Given the description of an element on the screen output the (x, y) to click on. 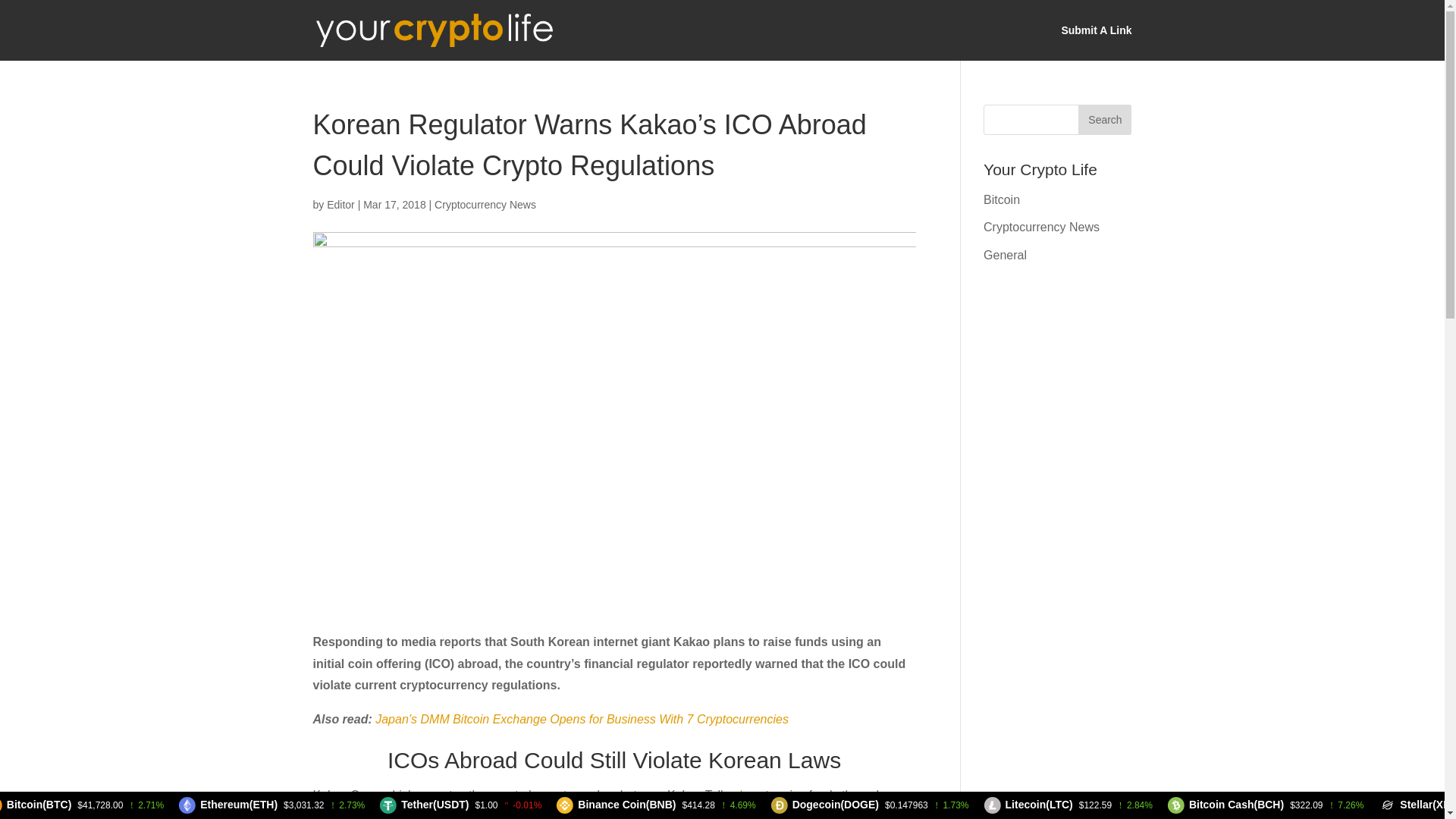
Search (1104, 119)
Bitcoin (1002, 198)
Search (1104, 119)
General (1005, 254)
Cryptocurrency News (484, 204)
Cryptocurrency News (1041, 226)
plans (747, 794)
Editor (340, 204)
Posts by Editor (340, 204)
Submit A Link (1096, 42)
